Given the description of an element on the screen output the (x, y) to click on. 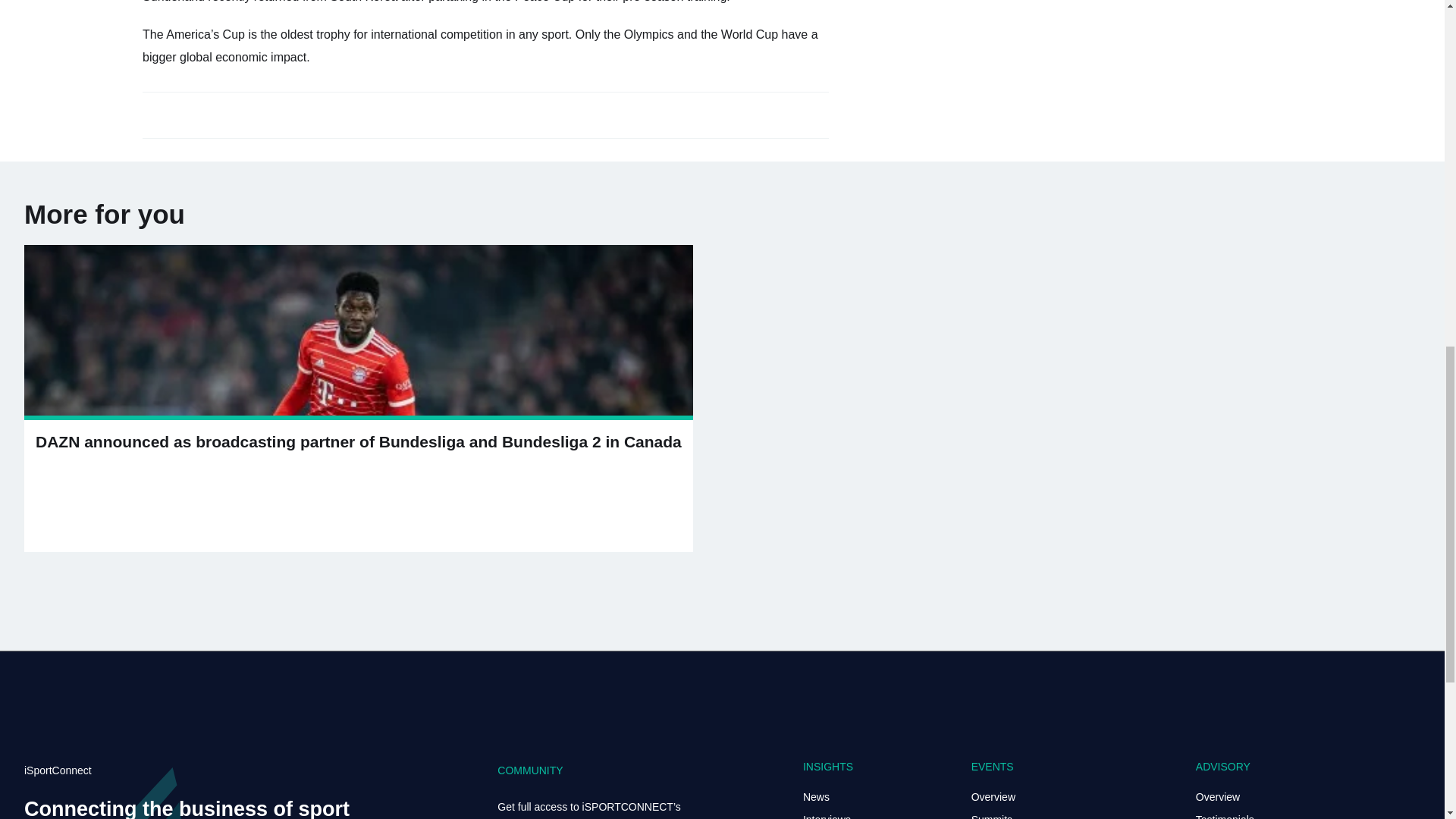
INSIGHTS (828, 766)
News (816, 797)
